Given the description of an element on the screen output the (x, y) to click on. 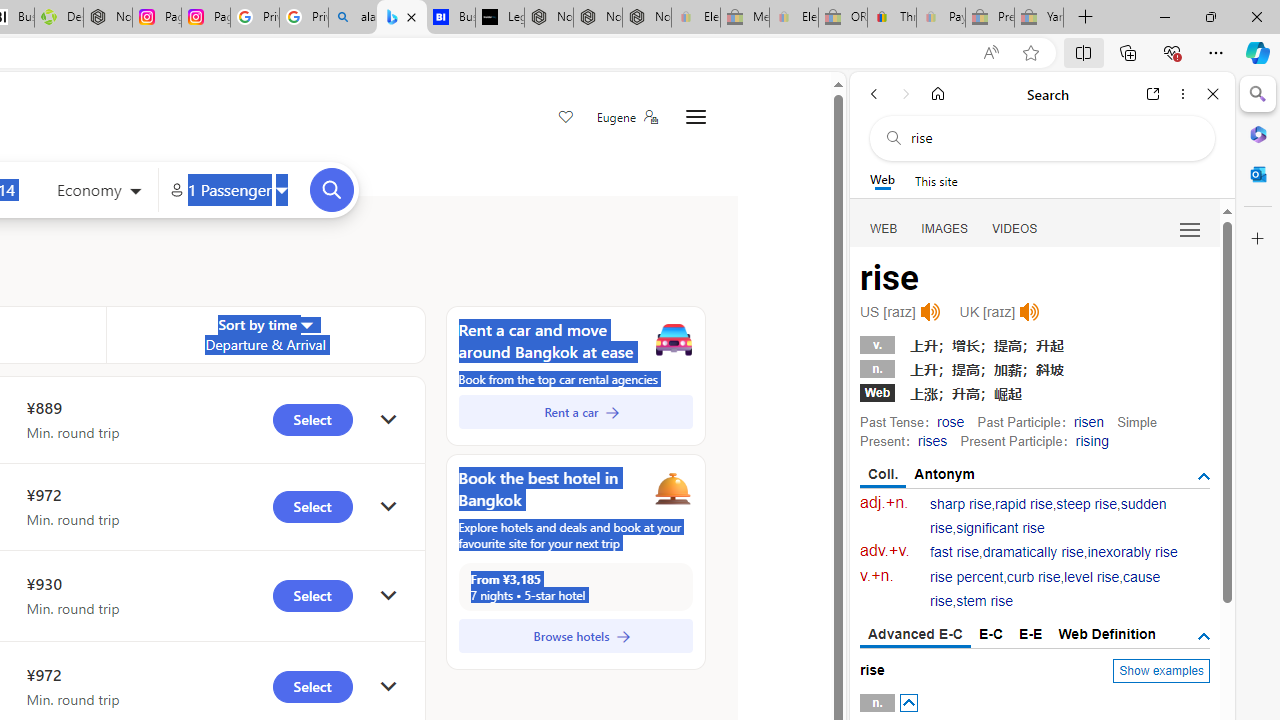
Search Filter, VIDEOS (1015, 228)
stem rise (984, 601)
sudden rise (1048, 515)
E-C (991, 633)
Save (565, 118)
Web scope (882, 180)
Descarga Driver Updater (58, 17)
This site scope (936, 180)
Class: b_serphb (1190, 229)
curb rise (1033, 577)
level rise (1091, 577)
